Given the description of an element on the screen output the (x, y) to click on. 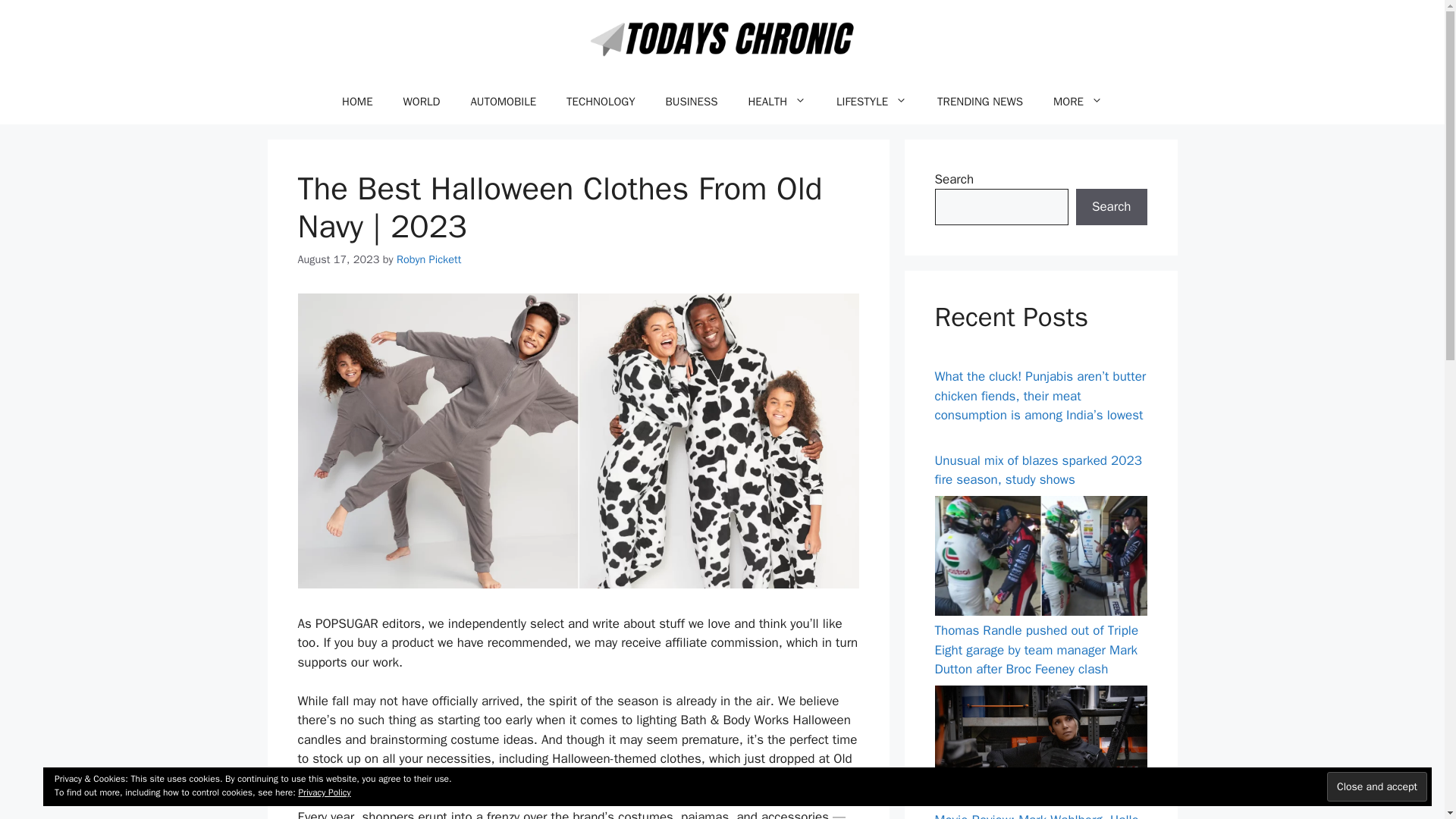
BUSINESS (691, 101)
Search (1111, 207)
Close and accept (1376, 786)
TRENDING NEWS (979, 101)
Close and accept (1376, 786)
Privacy Policy (324, 792)
View all posts by Robyn Pickett (428, 258)
Robyn Pickett (428, 258)
HOME (356, 101)
LIFESTYLE (871, 101)
